Given the description of an element on the screen output the (x, y) to click on. 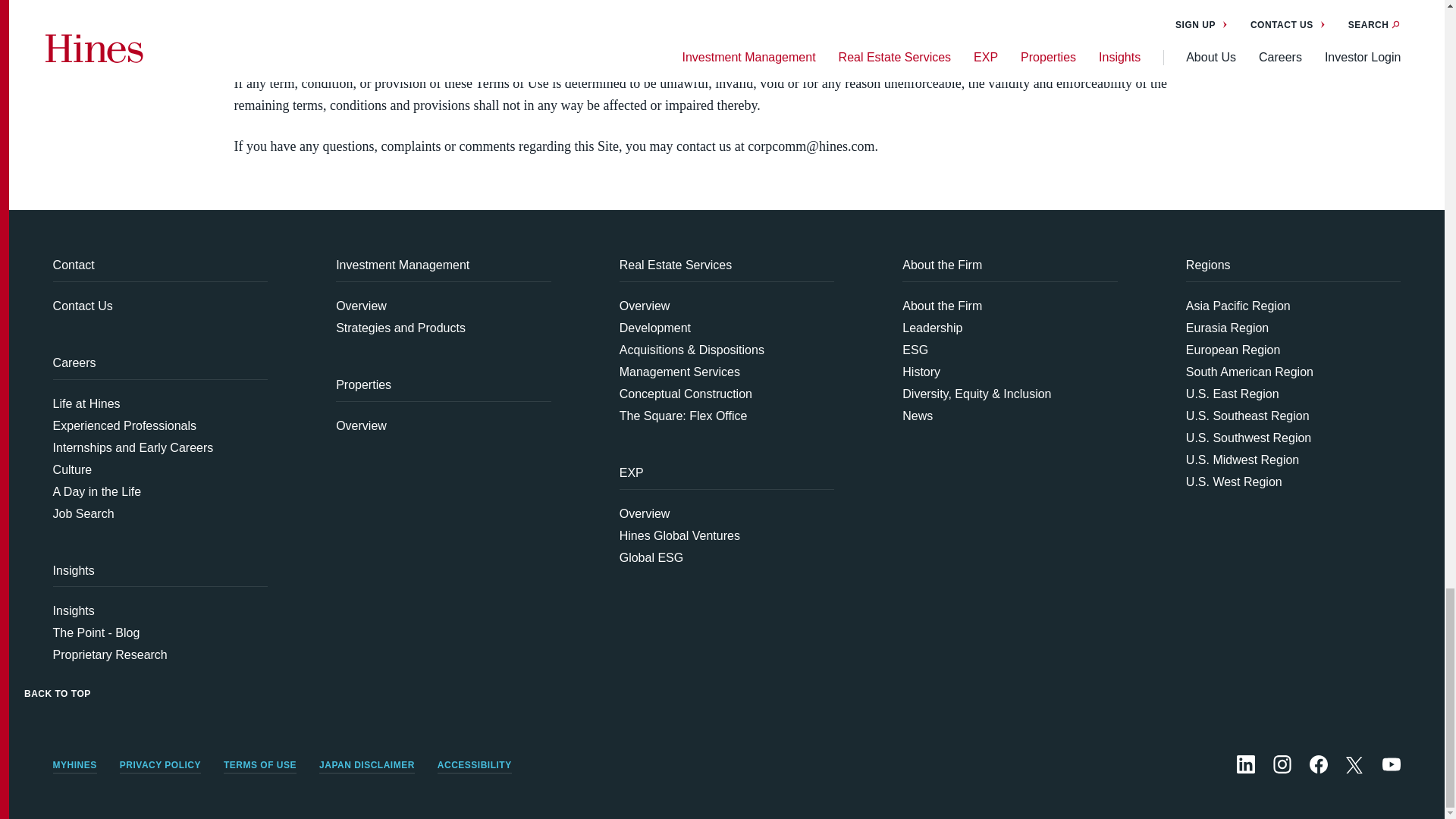
BACK TO TOP (57, 678)
BACK TO TOP (57, 693)
